Given the description of an element on the screen output the (x, y) to click on. 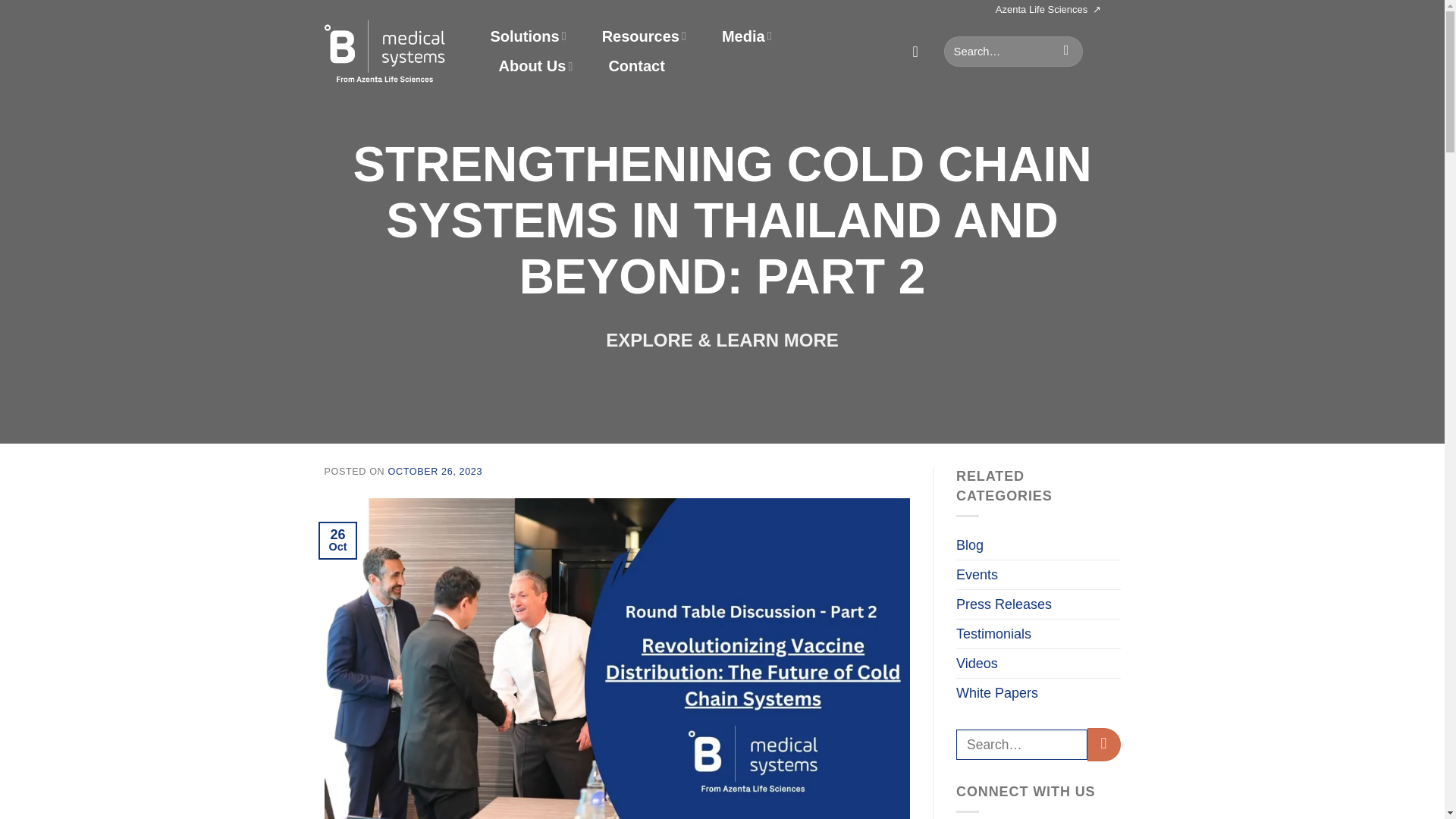
Solutions (527, 35)
Media (746, 35)
Solutions (527, 35)
B Medical Systems (384, 50)
Resources (643, 35)
